Given the description of an element on the screen output the (x, y) to click on. 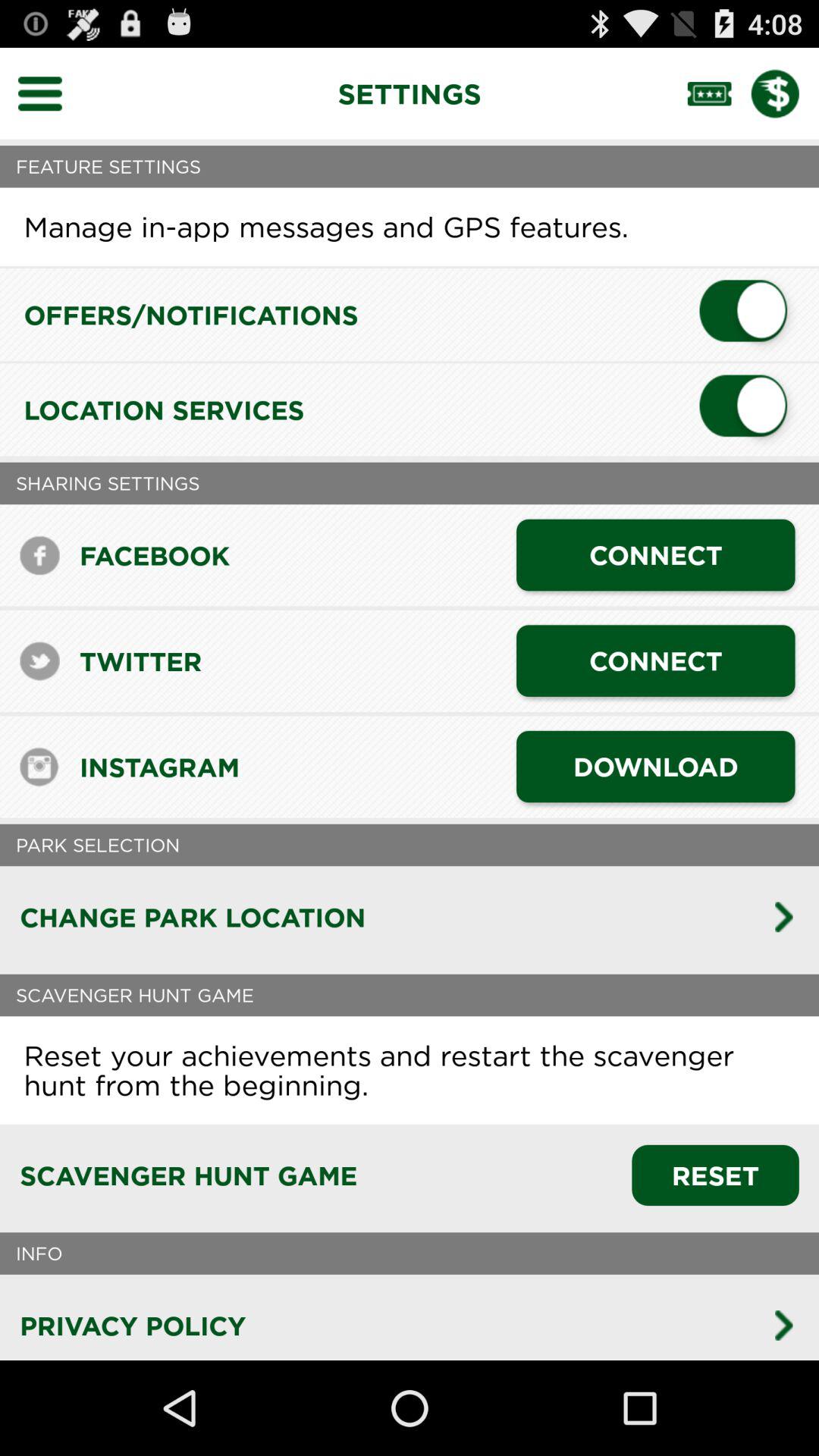
choose the app to the right of instagram app (655, 766)
